Given the description of an element on the screen output the (x, y) to click on. 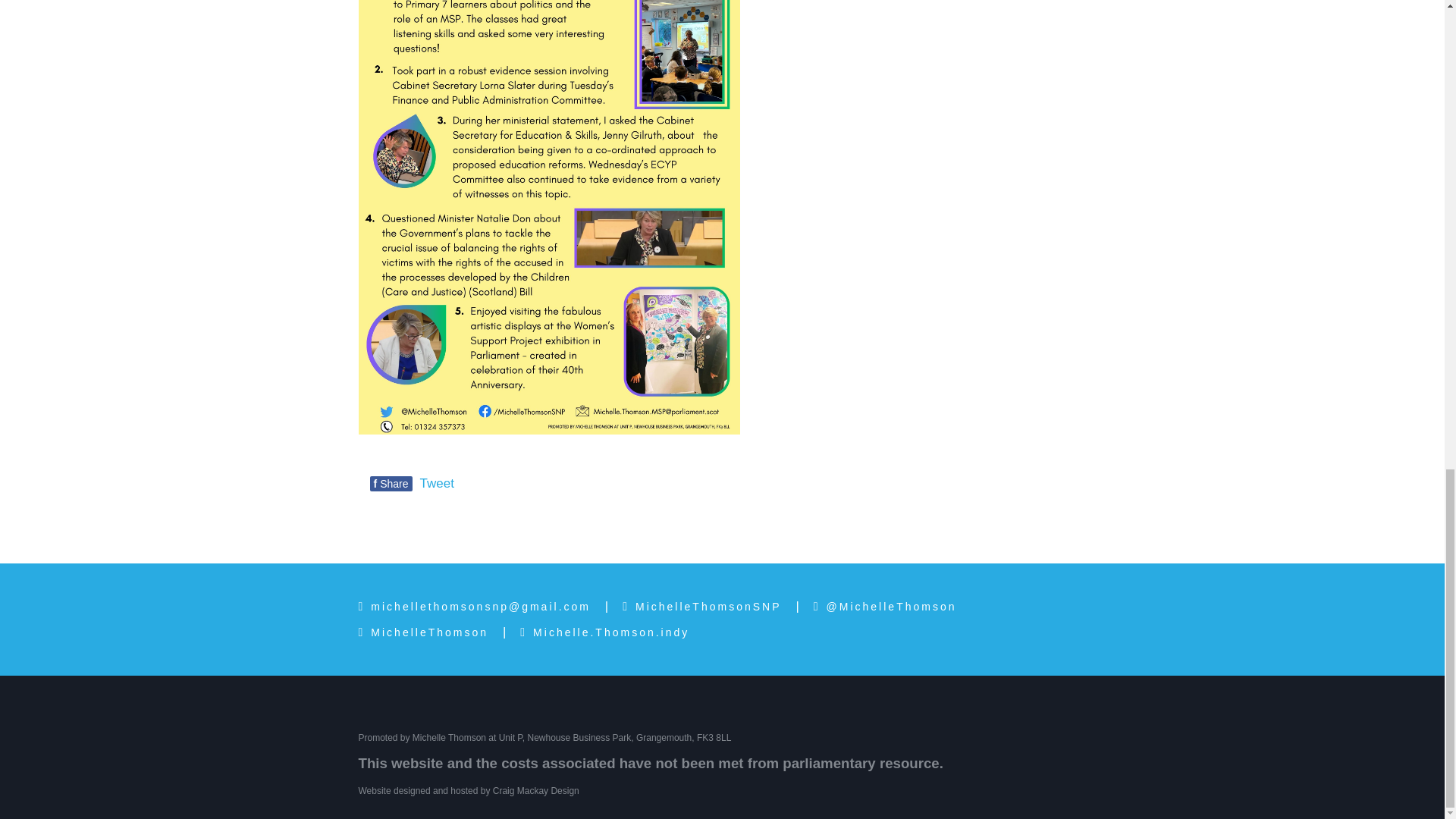
MichelleThomson (422, 632)
Michelle.Thomson.indy (603, 632)
Craig Mackay Design (536, 790)
MichelleThomsonSNP (701, 606)
Tweet (437, 482)
fShare (390, 483)
